Given the description of an element on the screen output the (x, y) to click on. 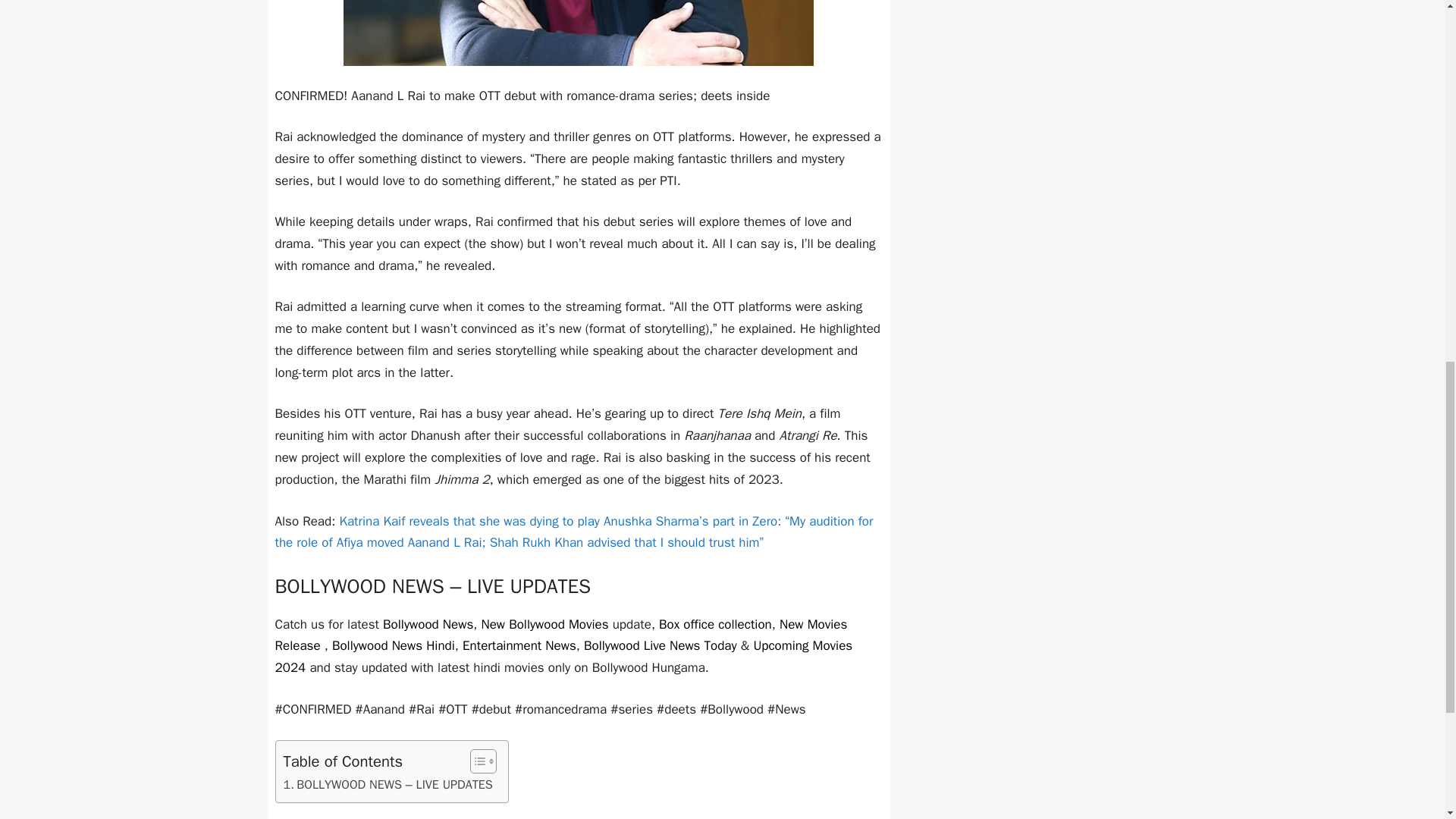
Upcoming Movies 2024 (563, 656)
Box office collection (715, 623)
Bollywood News Hindi (392, 645)
Upcoming Movies 2024 (563, 656)
Entertainment News (519, 645)
New Movies Release (561, 634)
Bollywood Live News Today (659, 645)
New Bollywood Movies (544, 623)
Box office collection (715, 623)
Bollywood News (427, 623)
New Movies Release (561, 634)
Bollywood Live News Today (659, 645)
Entertainment News (519, 645)
Bollywood News (427, 623)
Bollywood News - Live Updates (577, 586)
